Given the description of an element on the screen output the (x, y) to click on. 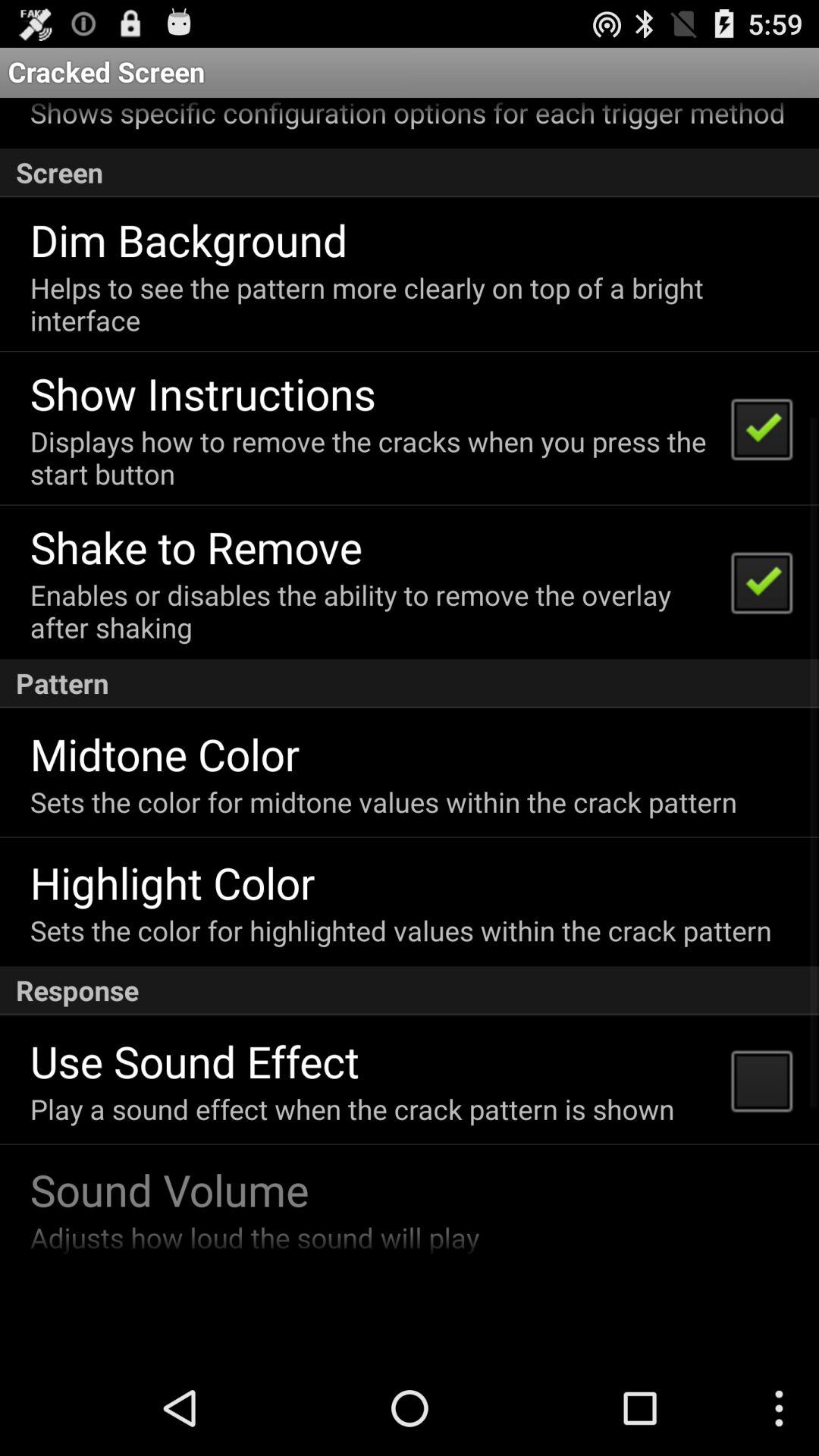
select enables or disables icon (370, 611)
